Given the description of an element on the screen output the (x, y) to click on. 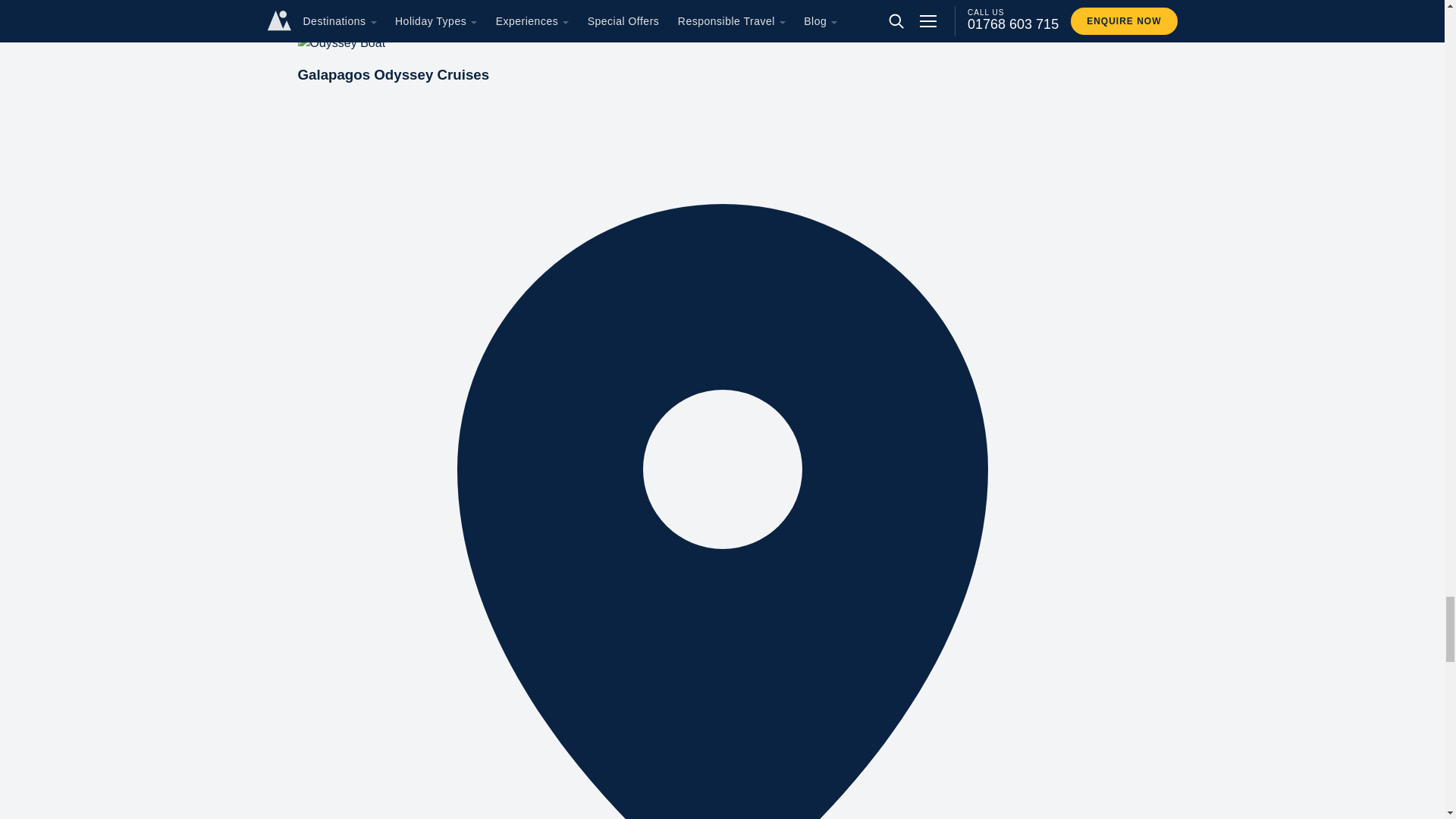
Odyssey Boat (341, 43)
